Given the description of an element on the screen output the (x, y) to click on. 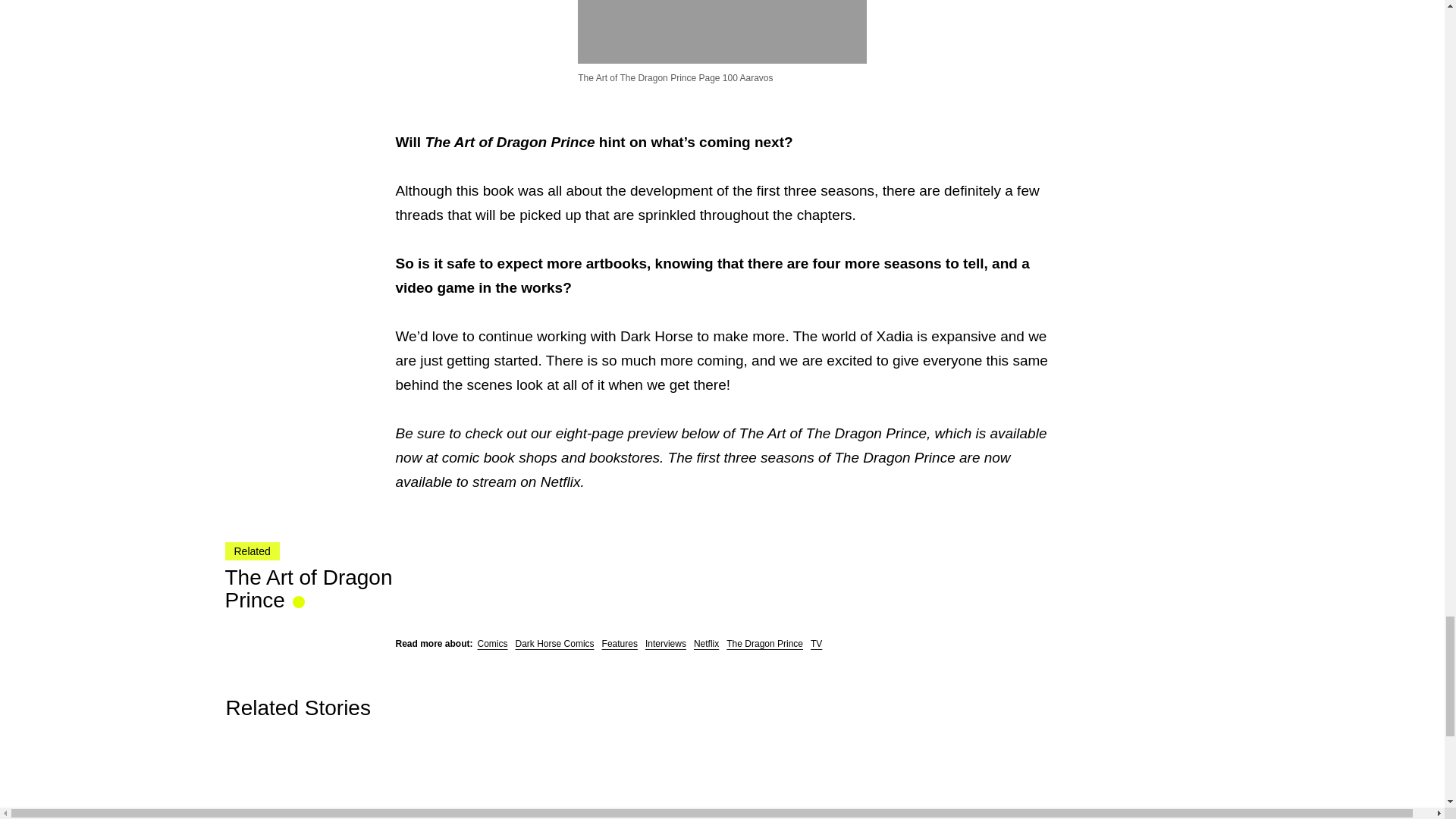
Dark Horse Comics (554, 643)
Comics (492, 643)
Features (619, 643)
